Given the description of an element on the screen output the (x, y) to click on. 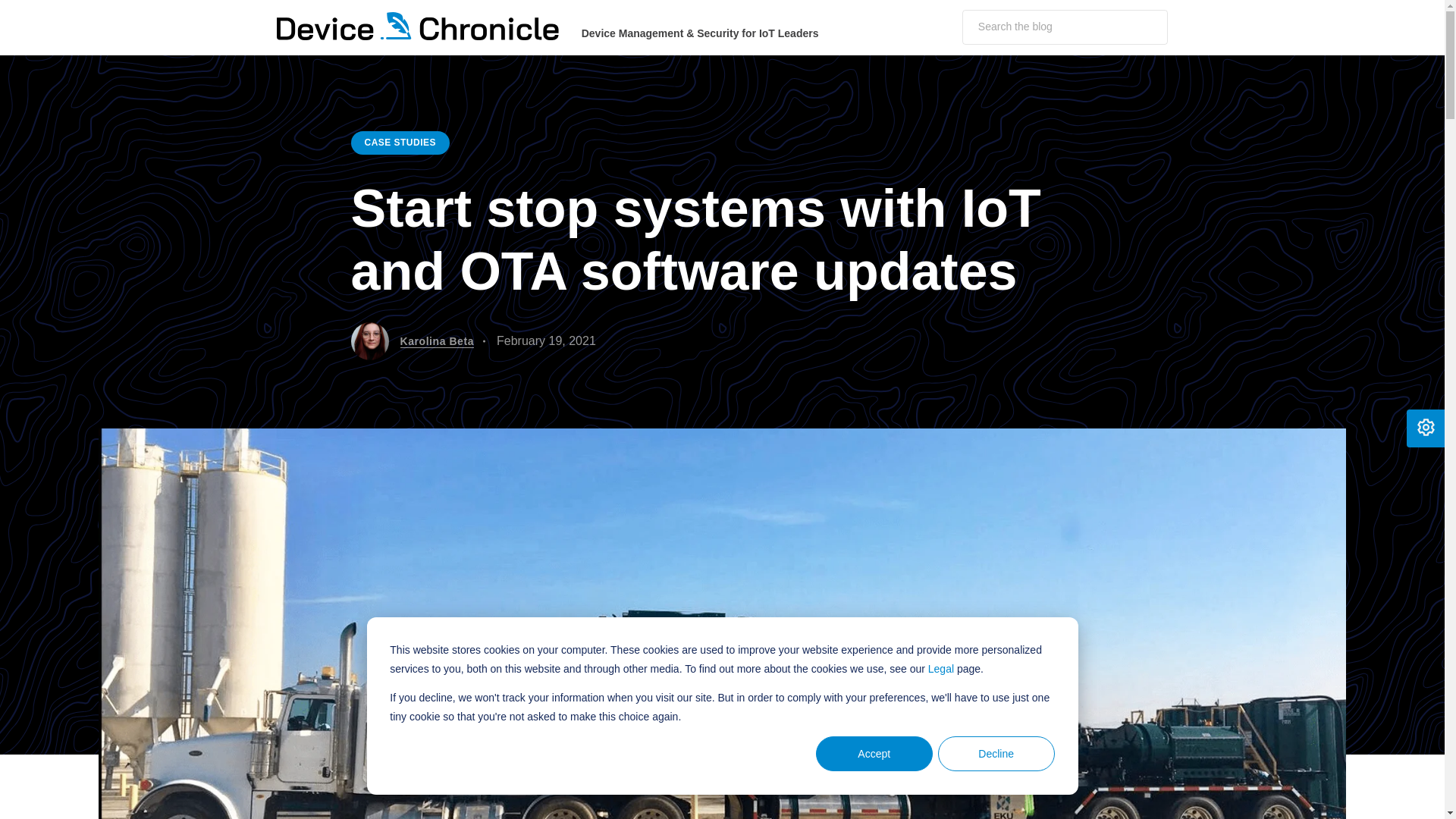
Device-Chronicle--Logo (417, 26)
Karolina Beta (437, 341)
CASE STUDIES (399, 142)
